Given the description of an element on the screen output the (x, y) to click on. 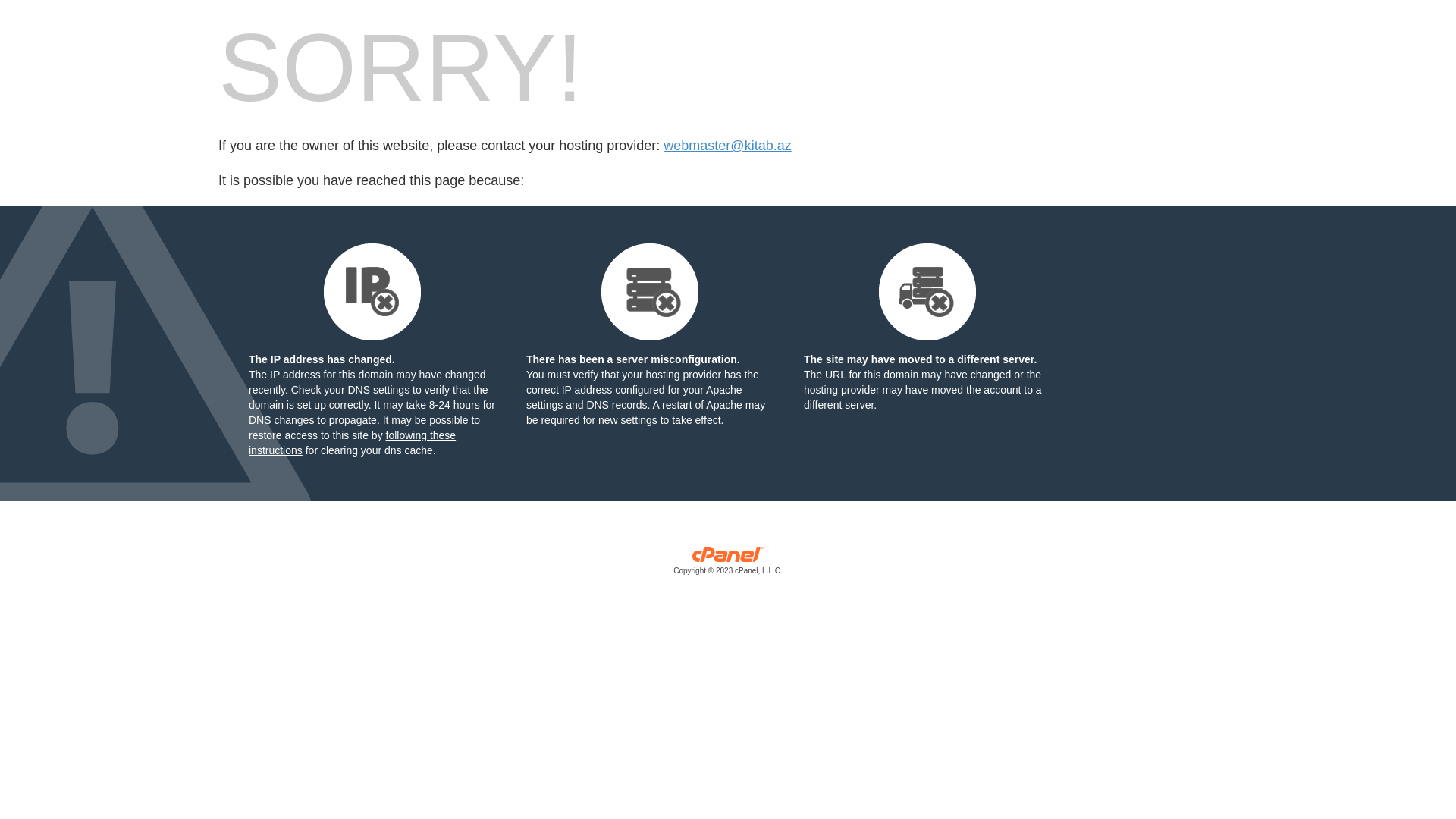
following these instructions Element type: text (351, 442)
webmaster@kitab.az Element type: text (726, 145)
